Given the description of an element on the screen output the (x, y) to click on. 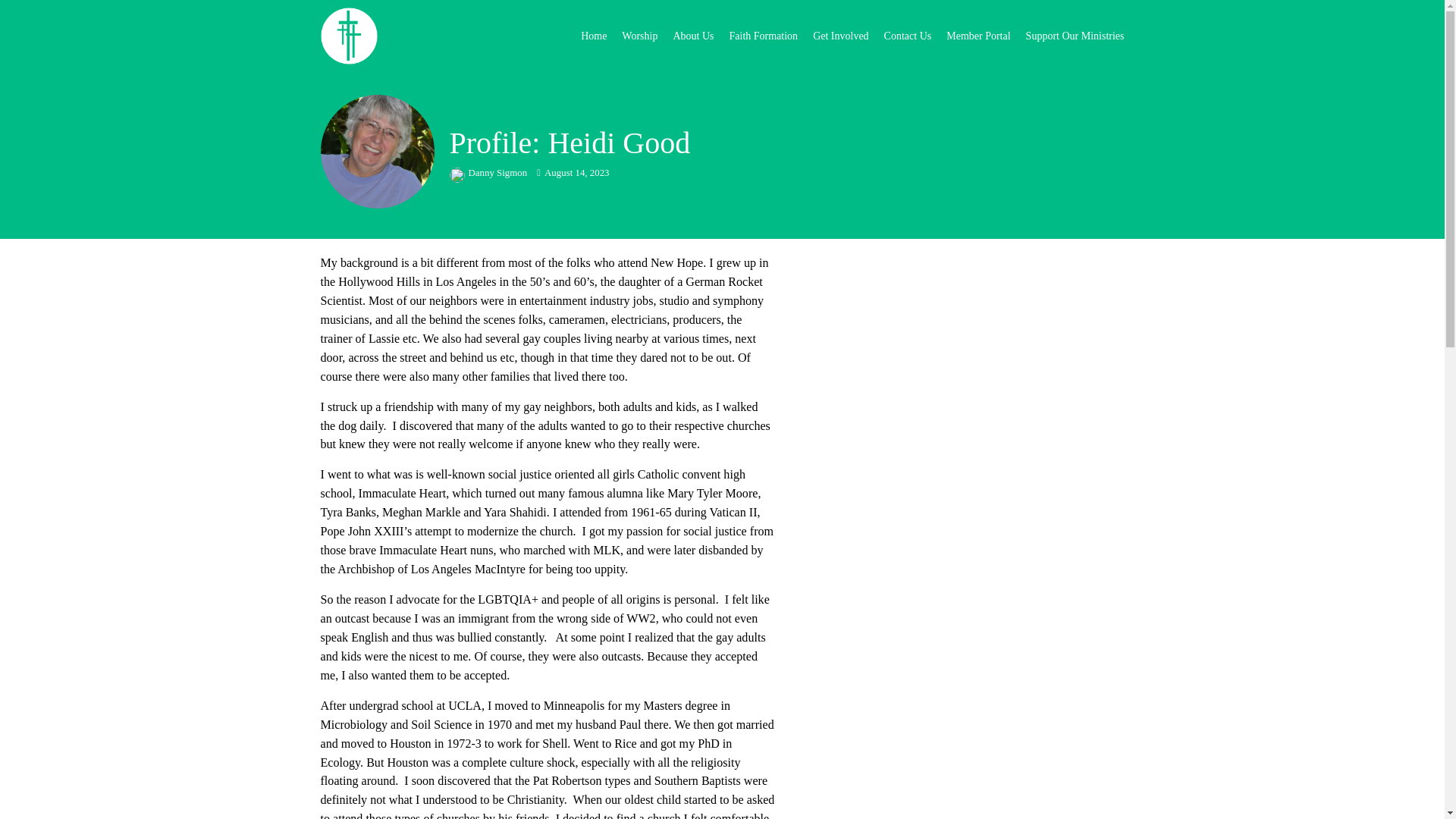
Worship (639, 36)
Home (593, 36)
View all posts by Danny Sigmon (488, 172)
Support Our Ministries (1075, 36)
Contact Us (907, 36)
New Hope Lutheran Church (358, 35)
Member Portal (978, 36)
3:32 pm (572, 172)
Danny Sigmon (488, 172)
August 14, 2023 (572, 172)
About Us (692, 36)
Get Involved (839, 36)
Faith Formation (763, 36)
